Given the description of an element on the screen output the (x, y) to click on. 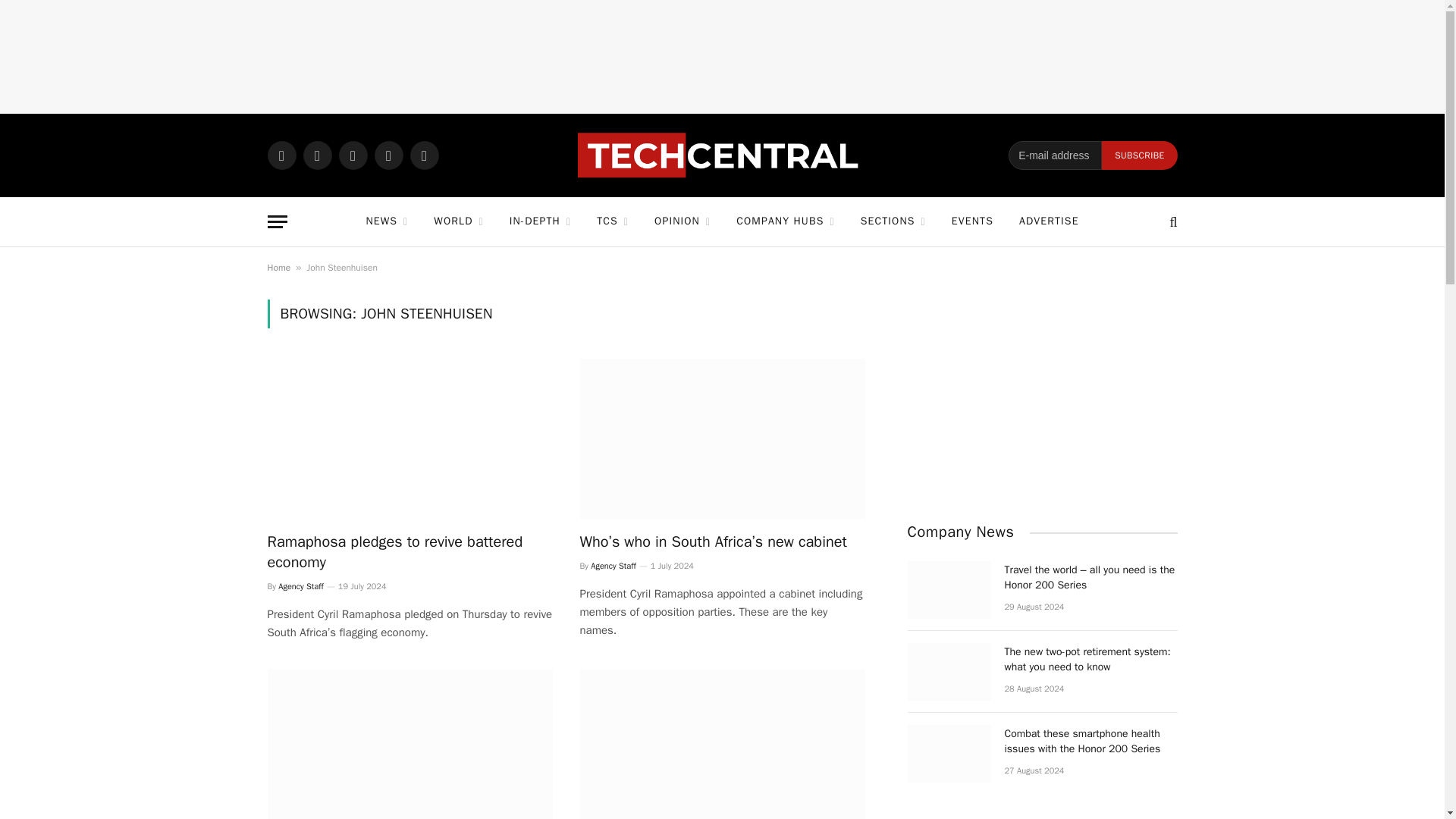
TechCentral (722, 155)
YouTube (423, 154)
Facebook (316, 154)
Subscribe (1139, 154)
Subscribe (1139, 154)
WORLD (458, 221)
IN-DEPTH (539, 221)
NEWS (386, 221)
LinkedIn (388, 154)
WhatsApp (280, 154)
